Given the description of an element on the screen output the (x, y) to click on. 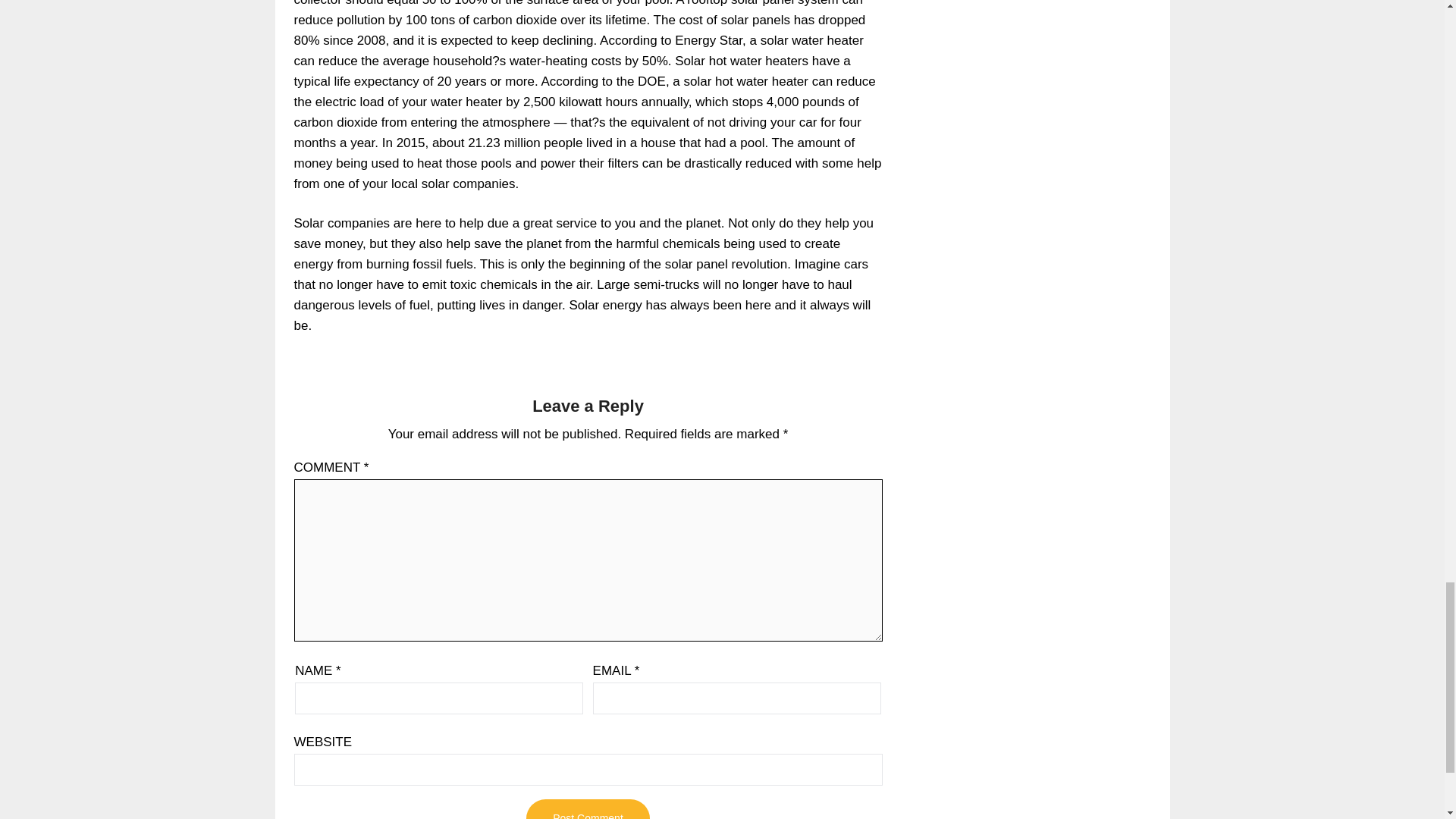
Post Comment (587, 809)
Post Comment (587, 809)
